Given the description of an element on the screen output the (x, y) to click on. 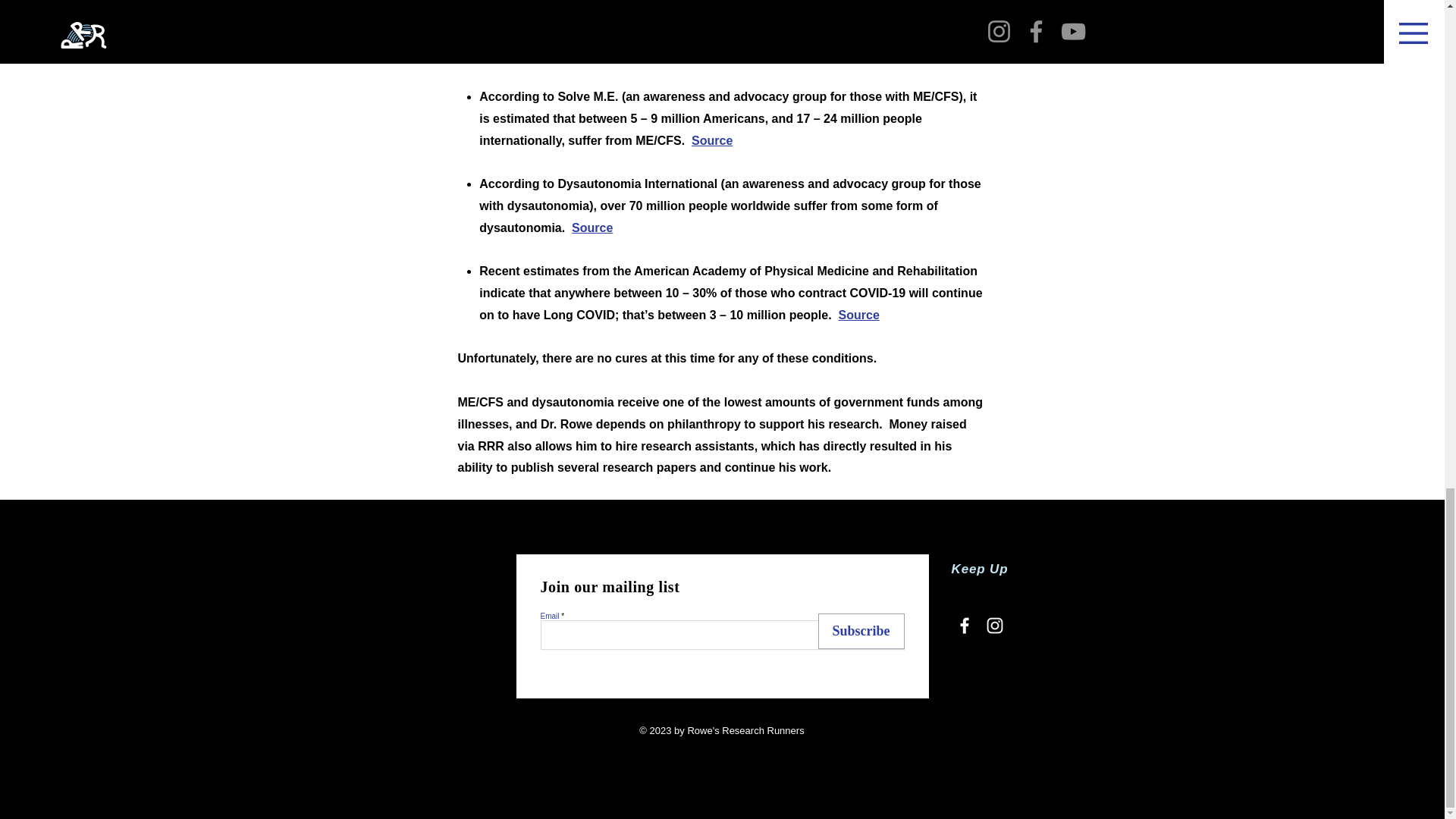
Source (711, 140)
Source (592, 227)
Subscribe (860, 631)
Source (858, 314)
